Given the description of an element on the screen output the (x, y) to click on. 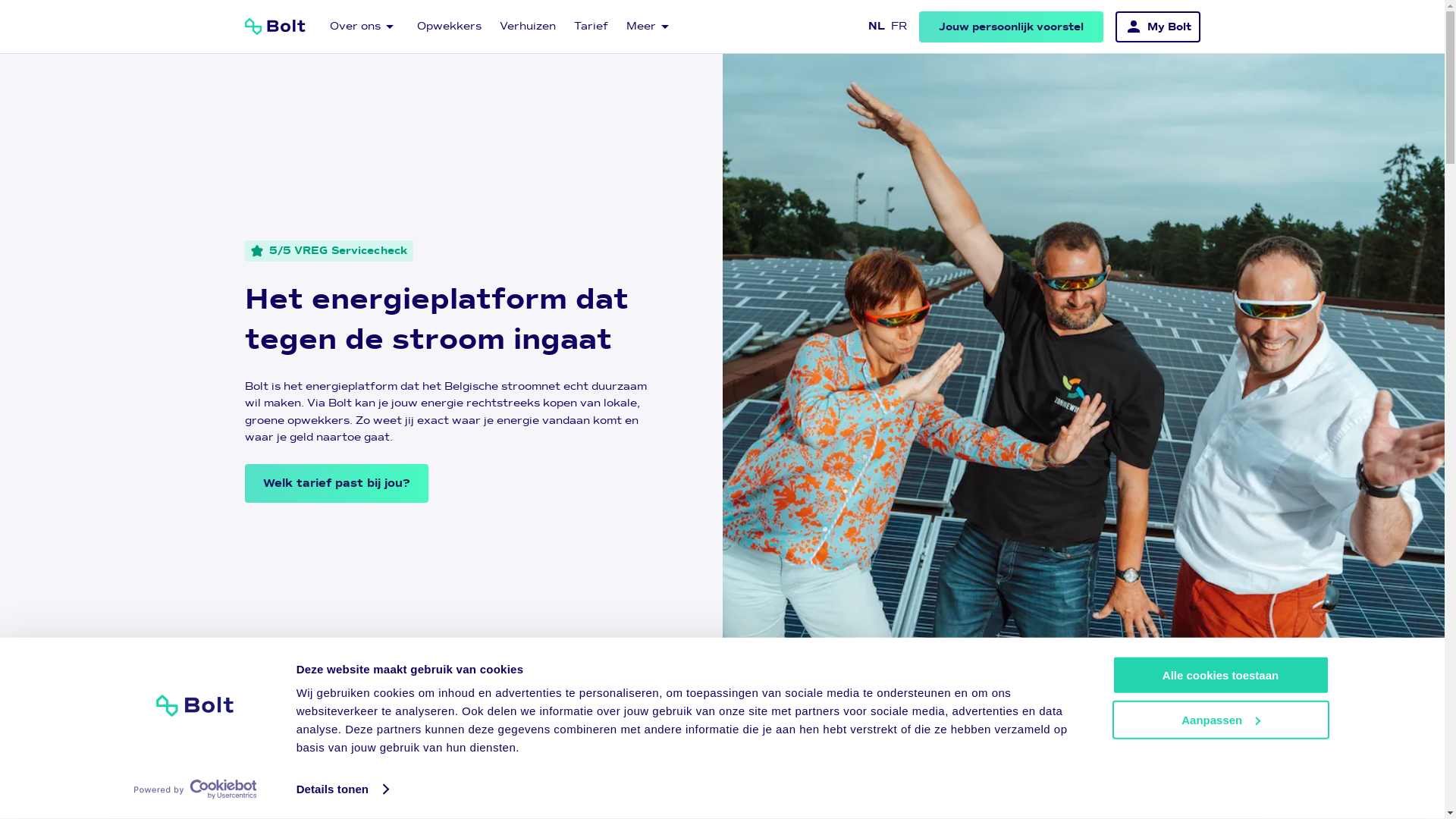
Over ons Element type: text (360, 26)
Aanpassen Element type: text (1219, 718)
Welk tarief past bij jou? Element type: text (335, 483)
Meer Element type: text (647, 26)
My Bolt Element type: text (1156, 25)
Verhuizen Element type: text (523, 26)
Tarief Element type: text (587, 26)
Jouw persoonlijk voorstel Element type: text (1011, 25)
Opwekkers Element type: text (445, 26)
Details tonen Element type: text (342, 789)
Alle cookies toestaan Element type: text (1219, 674)
